Given the description of an element on the screen output the (x, y) to click on. 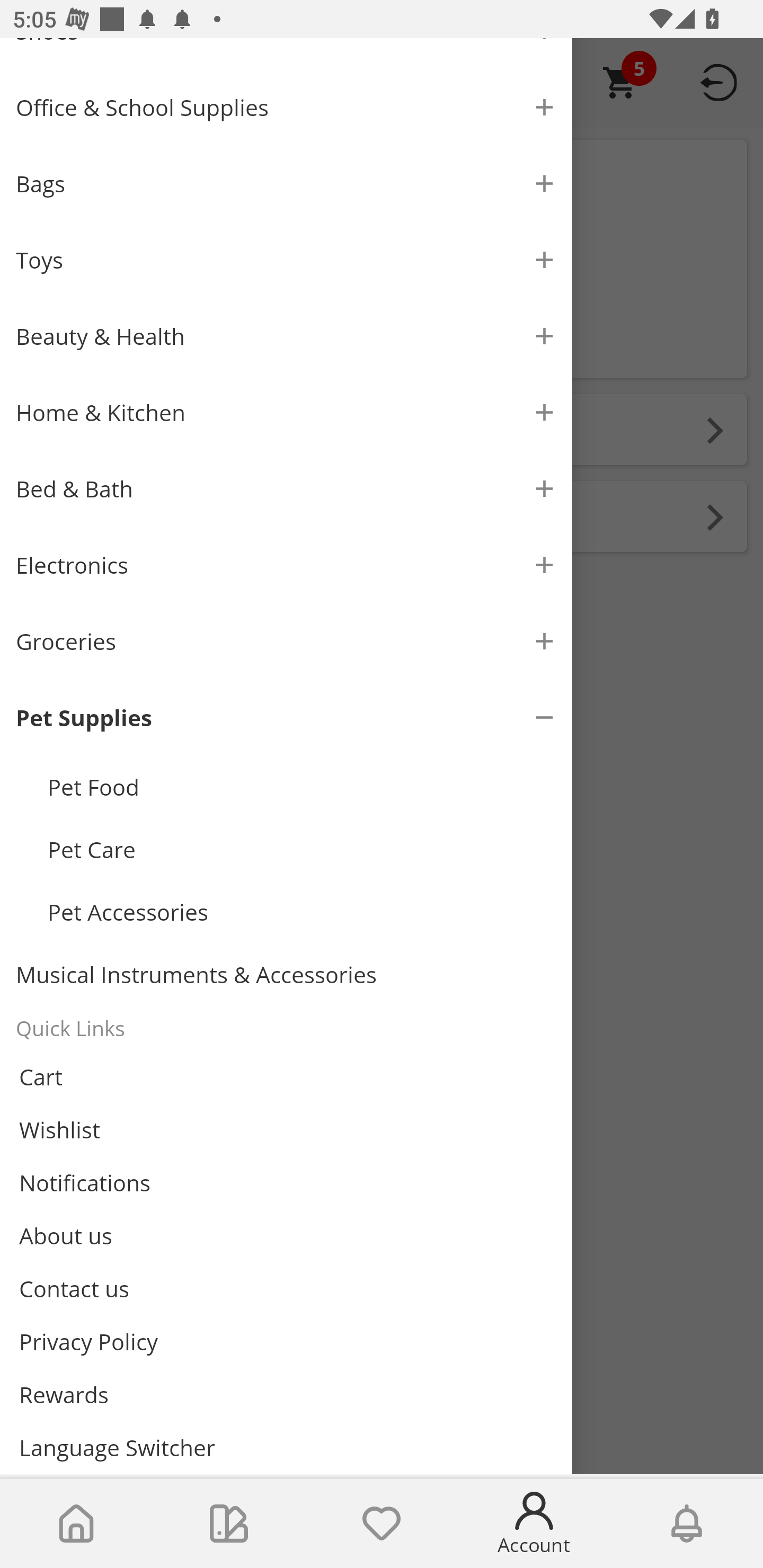
Office & School Supplies (286, 106)
Bags (286, 183)
Toys (286, 259)
Beauty & Health (286, 335)
Home & Kitchen (286, 412)
Bed & Bath (286, 488)
Electronics (286, 564)
Groceries (286, 640)
Pet Supplies Pet Food Pet Care Pet Accessories (286, 810)
Pet Food (302, 786)
Pet Care (302, 849)
Pet Accessories (302, 912)
Musical Instruments & Accessories (286, 974)
Cart (286, 1076)
Wishlist (286, 1130)
Notifications (286, 1182)
About us (286, 1235)
Contact us (286, 1288)
Privacy Policy (286, 1341)
Rewards (286, 1394)
Language Switcher (286, 1446)
Home (76, 1523)
Collections (228, 1523)
Wishlist (381, 1523)
Notifications (686, 1523)
